Given the description of an element on the screen output the (x, y) to click on. 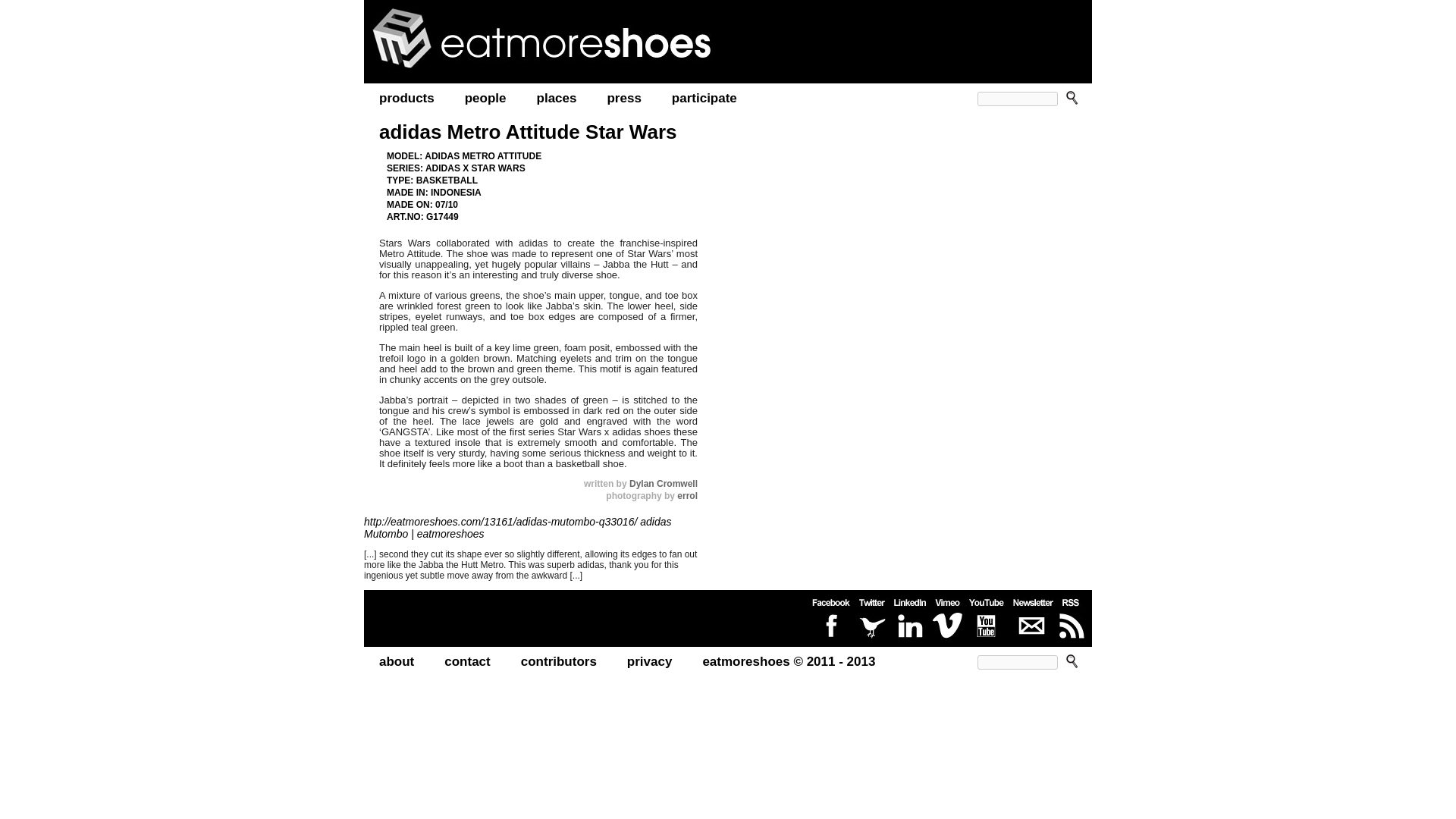
Facebook (830, 618)
press (623, 98)
LinkedIn (909, 618)
Vimeo (947, 618)
email newsletter (1033, 618)
RSS (1071, 618)
eatmoreshoes (561, 37)
participate (704, 98)
places (556, 98)
products (406, 98)
YouTube (987, 618)
places (556, 98)
contact (467, 662)
people (485, 98)
about (396, 662)
